Given the description of an element on the screen output the (x, y) to click on. 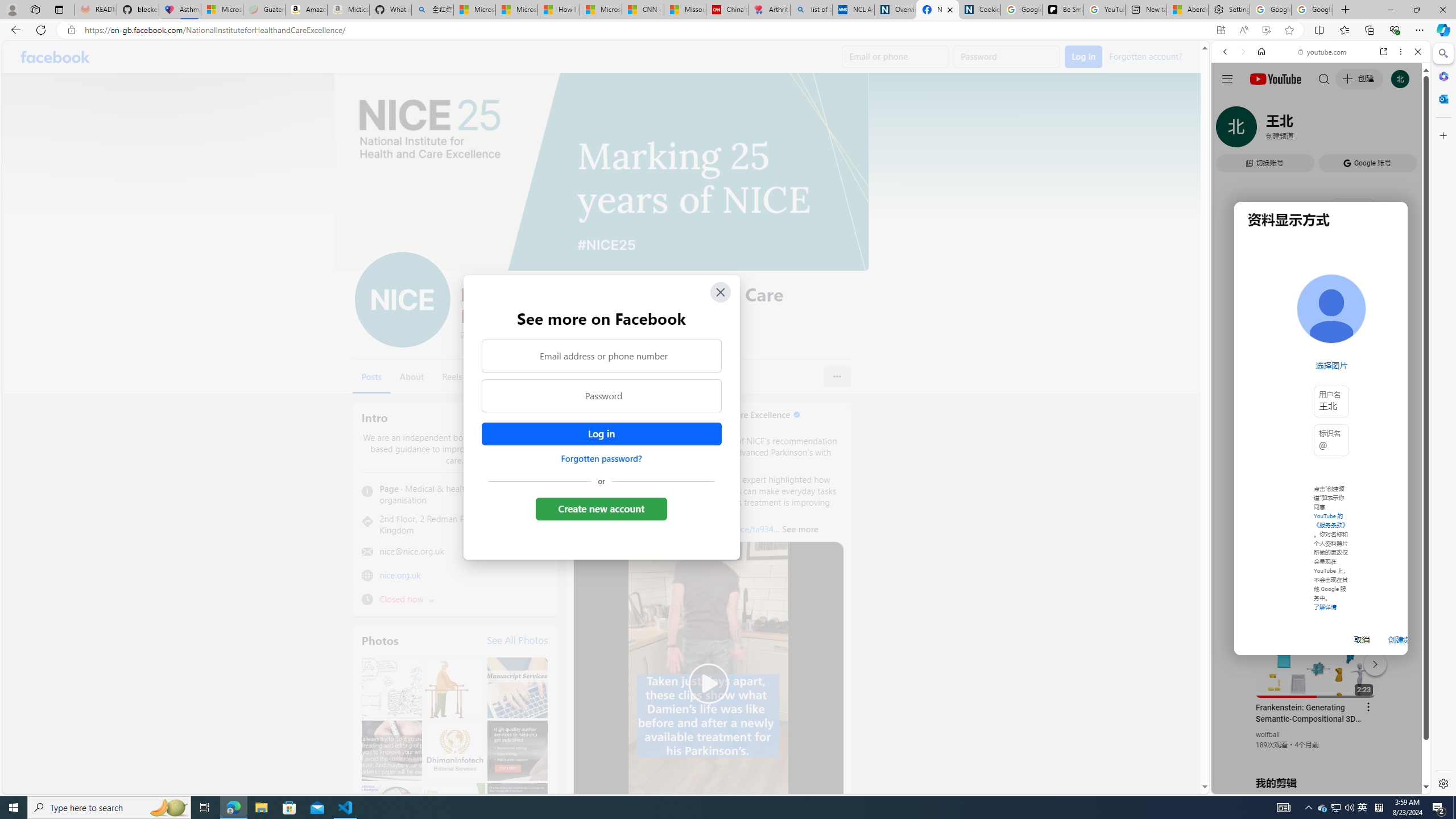
Class: dict_pnIcon rms_img (1312, 784)
Email address or phone number (600, 355)
